Given the description of an element on the screen output the (x, y) to click on. 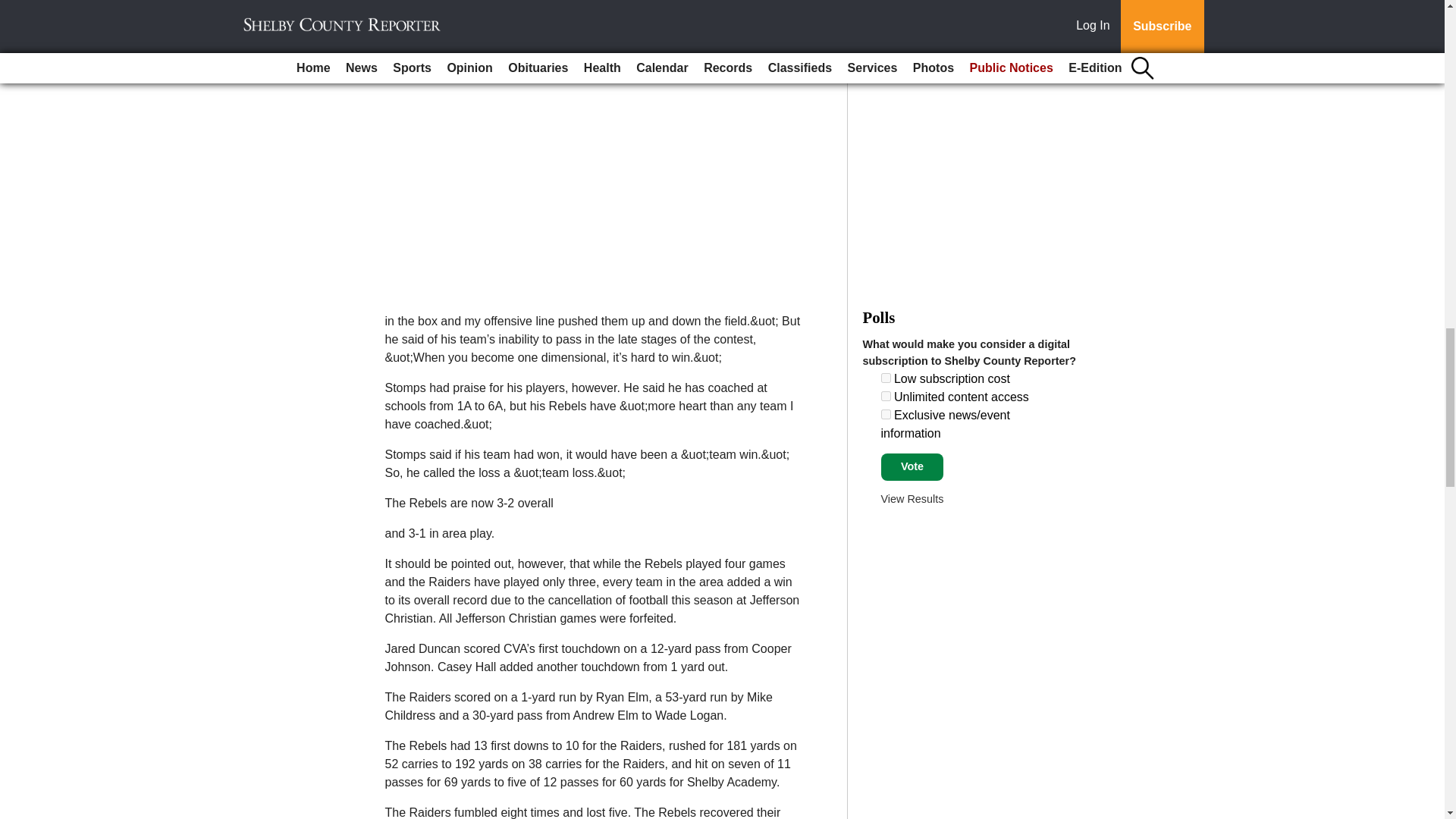
4638 (885, 414)
4636 (885, 378)
   Vote    (911, 466)
View Results Of This Poll (911, 499)
4637 (885, 396)
